Given the description of an element on the screen output the (x, y) to click on. 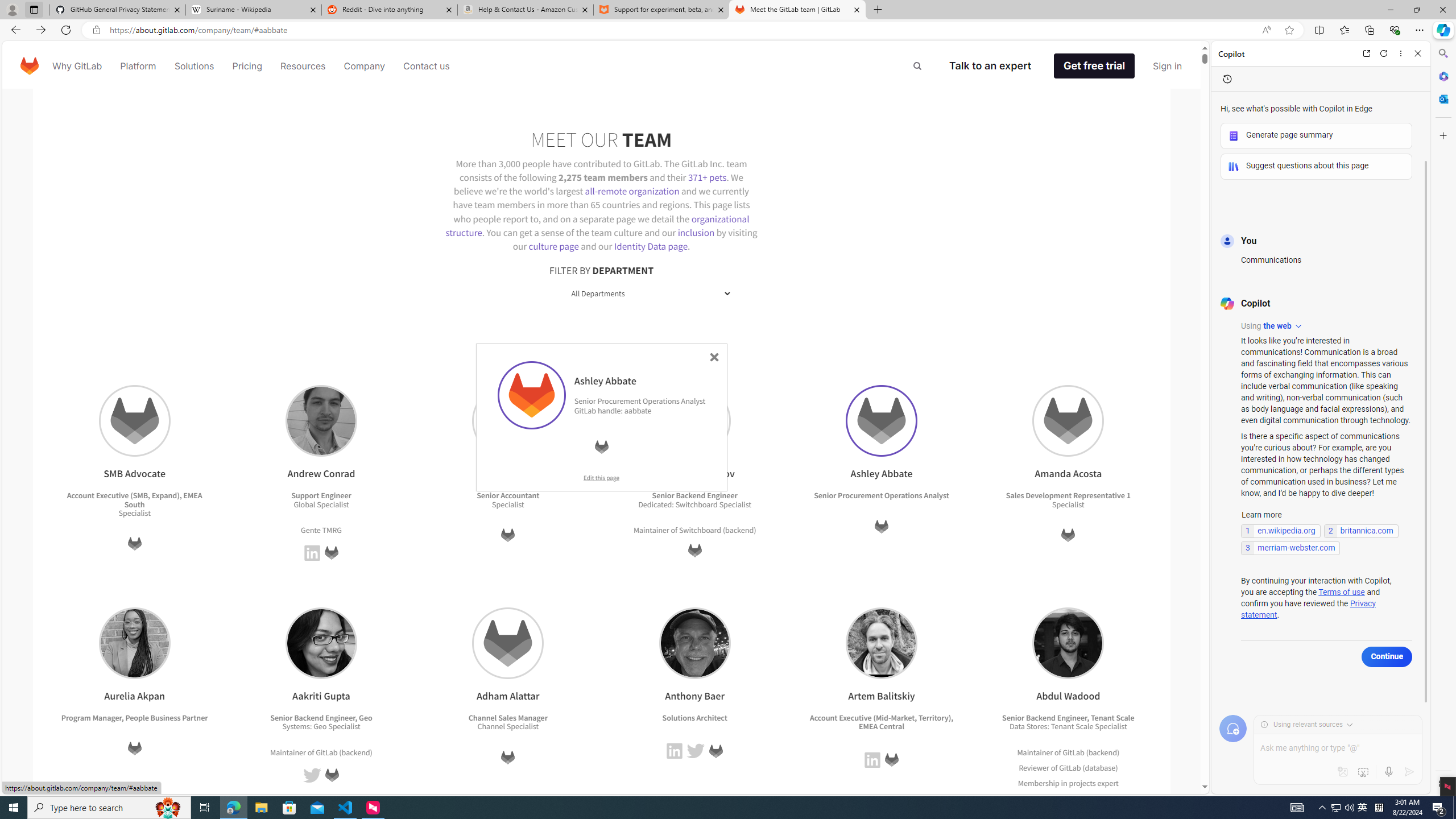
Ashley Abbate (531, 395)
culture page (553, 246)
Ashley Abbate (880, 420)
aabbate (638, 410)
Aurelia Akpan (134, 642)
SMB Advocate (134, 420)
GitLab (890, 759)
Pricing (246, 65)
Senior Backend Engineer, Geo (321, 717)
Solutions (193, 65)
